Given the description of an element on the screen output the (x, y) to click on. 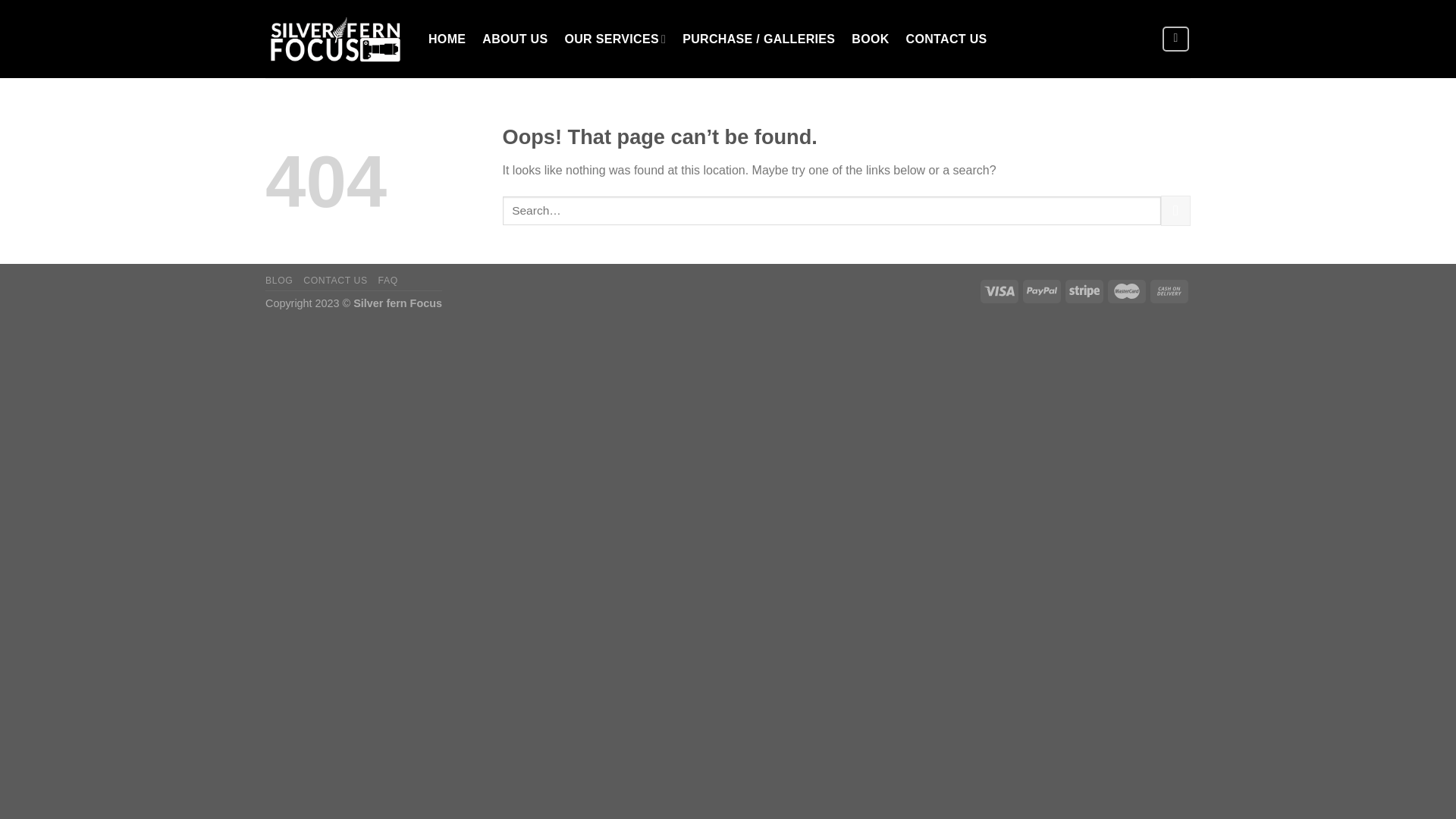
PURCHASE / GALLERIES Element type: text (758, 38)
FAQ Element type: text (388, 280)
ABOUT US Element type: text (514, 38)
BOOK Element type: text (869, 38)
CONTACT US Element type: text (946, 38)
Silver Fern Focus - Sports Based Photograhers Element type: hover (335, 38)
BLOG Element type: text (278, 280)
HOME Element type: text (446, 38)
Follow on Facebook Element type: hover (1175, 38)
OUR SERVICES Element type: text (614, 38)
CONTACT US Element type: text (335, 280)
